Given the description of an element on the screen output the (x, y) to click on. 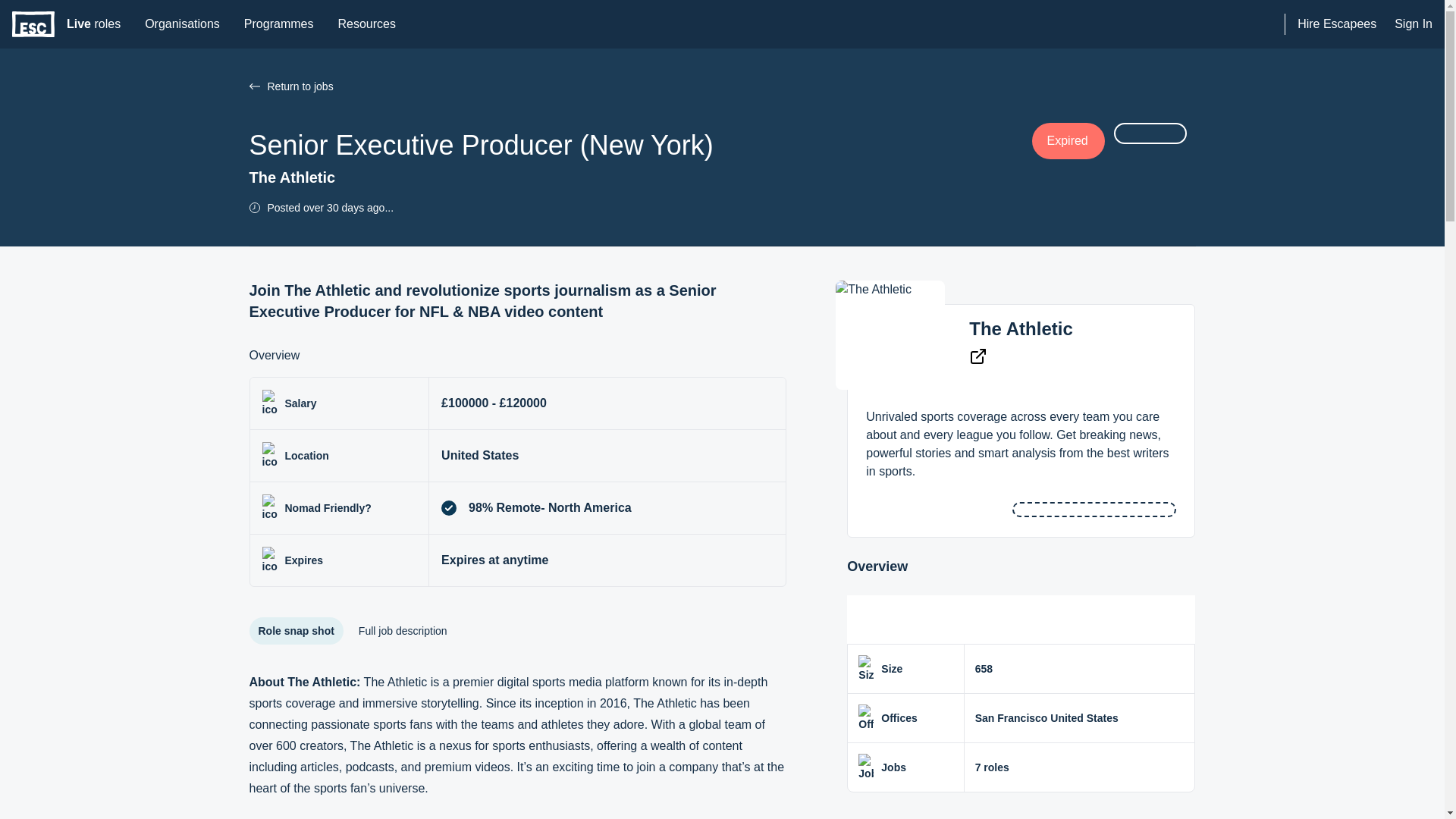
Hire Escapees (93, 24)
Escape the City (1336, 24)
The Athletic (33, 24)
Return to jobs (1020, 328)
Programmes (639, 86)
Organisations (278, 24)
Return to jobs (181, 24)
Resources (253, 86)
